Given the description of an element on the screen output the (x, y) to click on. 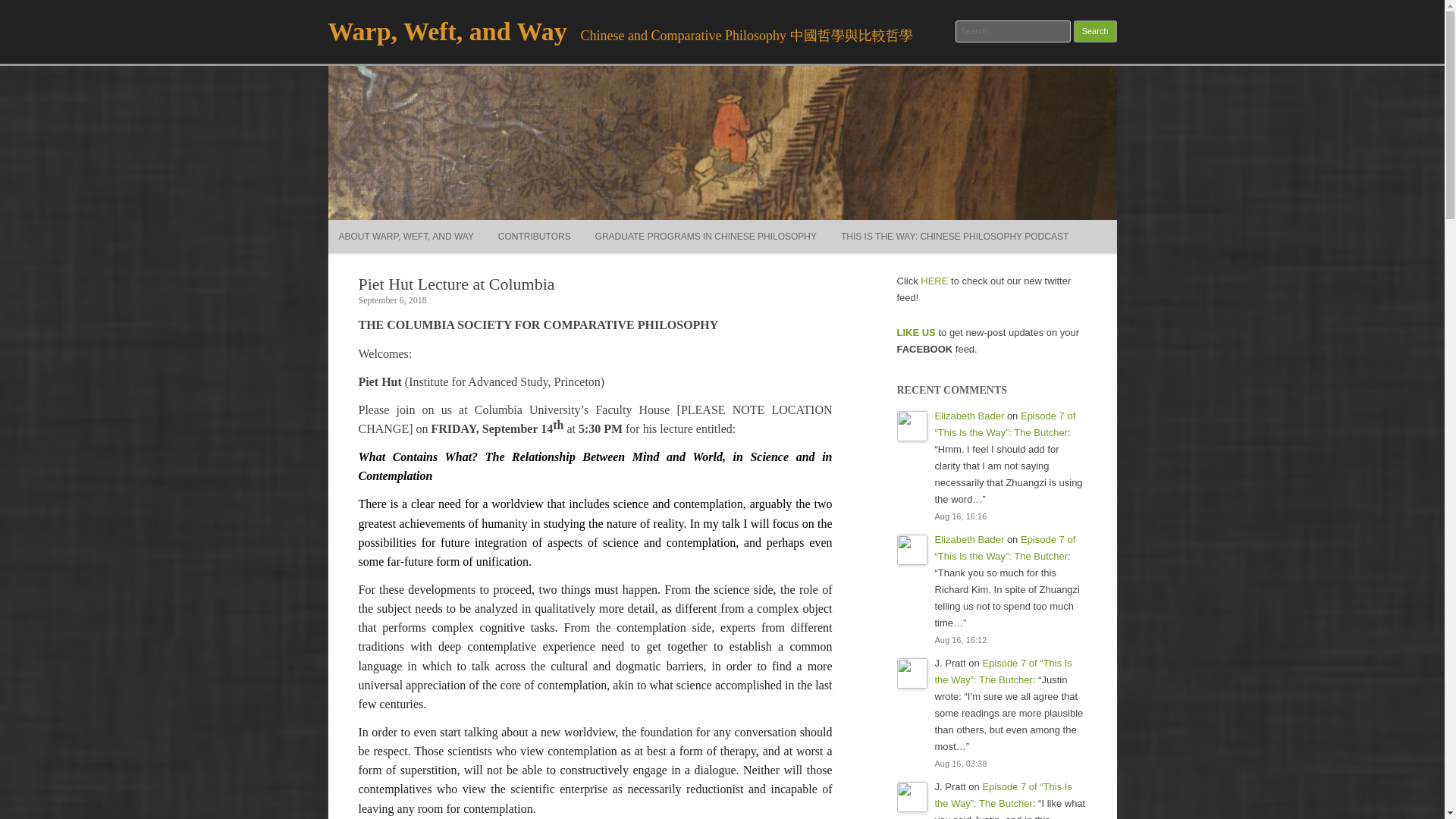
Warp, Weft, and Way (446, 31)
LIKE US (915, 332)
THIS IS THE WAY: CHINESE PHILOSOPHY PODCAST (954, 236)
Warp, Weft, and Way (446, 31)
Elizabeth Bader (969, 415)
ABOUT WARP, WEFT, AND WAY (405, 236)
Search (1095, 31)
CONTRIBUTORS (533, 236)
September 6, 2018 (392, 299)
Search (1095, 31)
